Given the description of an element on the screen output the (x, y) to click on. 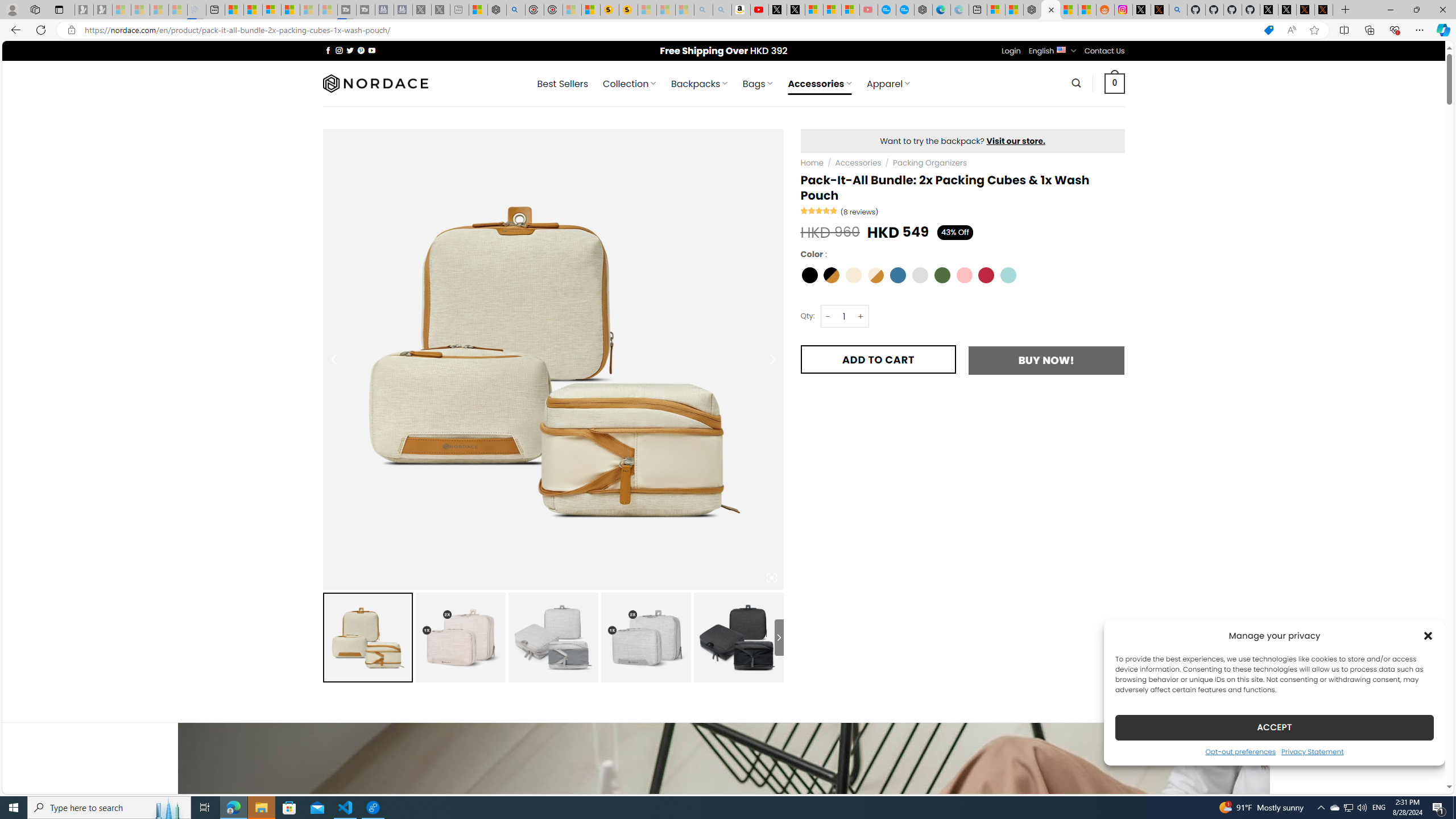
Opinion: Op-Ed and Commentary - USA TODAY (887, 9)
The most popular Google 'how to' searches (904, 9)
Gloom - YouTube - Sleeping (868, 9)
X - Sleeping (440, 9)
+ (861, 316)
  0   (1115, 83)
App bar (728, 29)
Shanghai, China Weather trends | Microsoft Weather (1086, 9)
Contact Us (1104, 50)
